Given the description of an element on the screen output the (x, y) to click on. 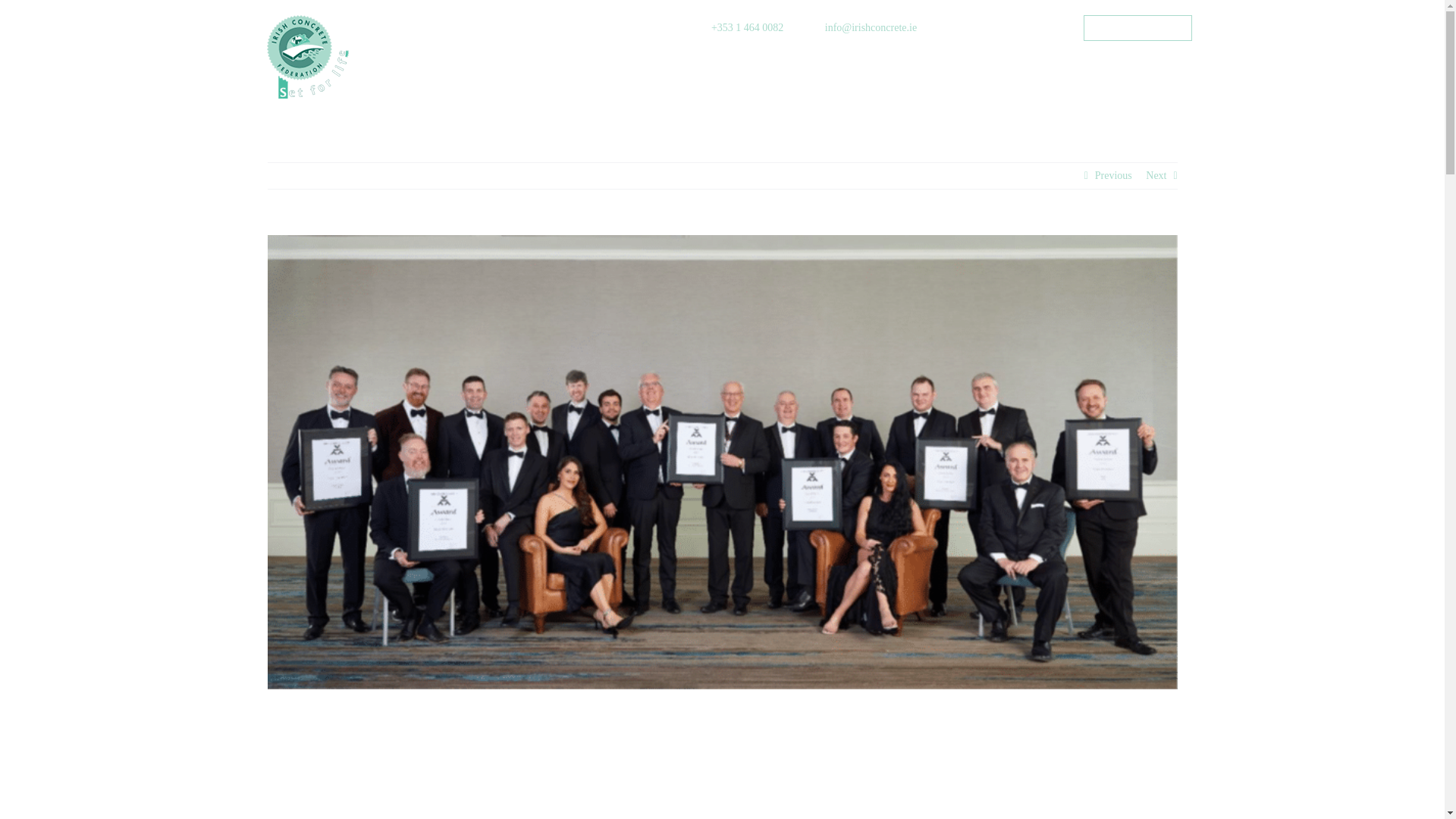
Information Centre (707, 70)
About ICF (584, 70)
MEMBER LOGIN (1137, 27)
